Given the description of an element on the screen output the (x, y) to click on. 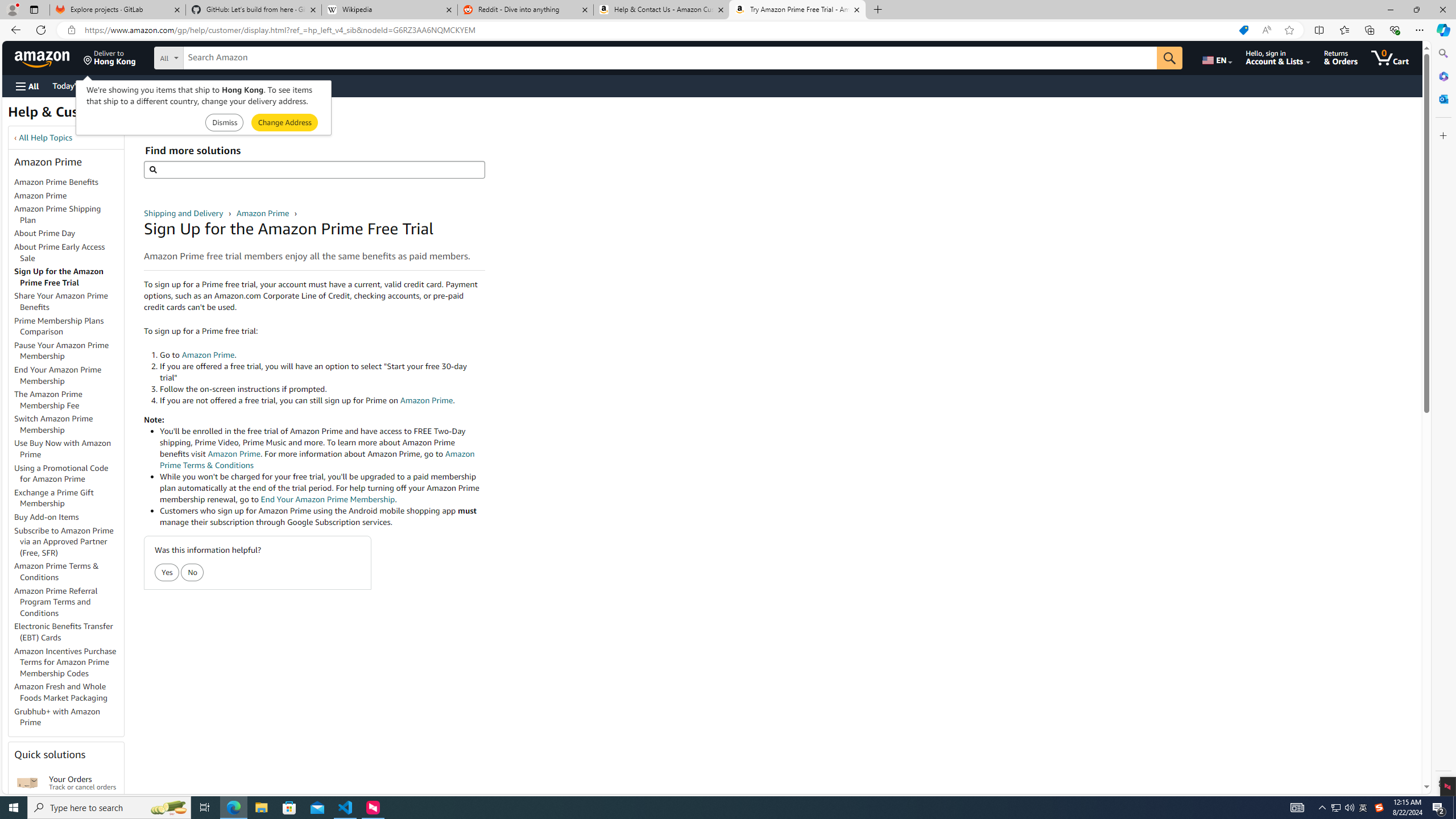
Amazon Prime Terms & Conditions (68, 572)
Amazon Prime Shipping Plan (68, 214)
Returns & Orders (1340, 57)
Amazon Fresh and Whole Foods Market Packaging (68, 692)
About Prime Day (44, 233)
Customer Service (145, 85)
Try Amazon Prime Free Trial - Amazon Customer Service (797, 9)
Help & Contact Us - Amazon Customer Service (660, 9)
